Given the description of an element on the screen output the (x, y) to click on. 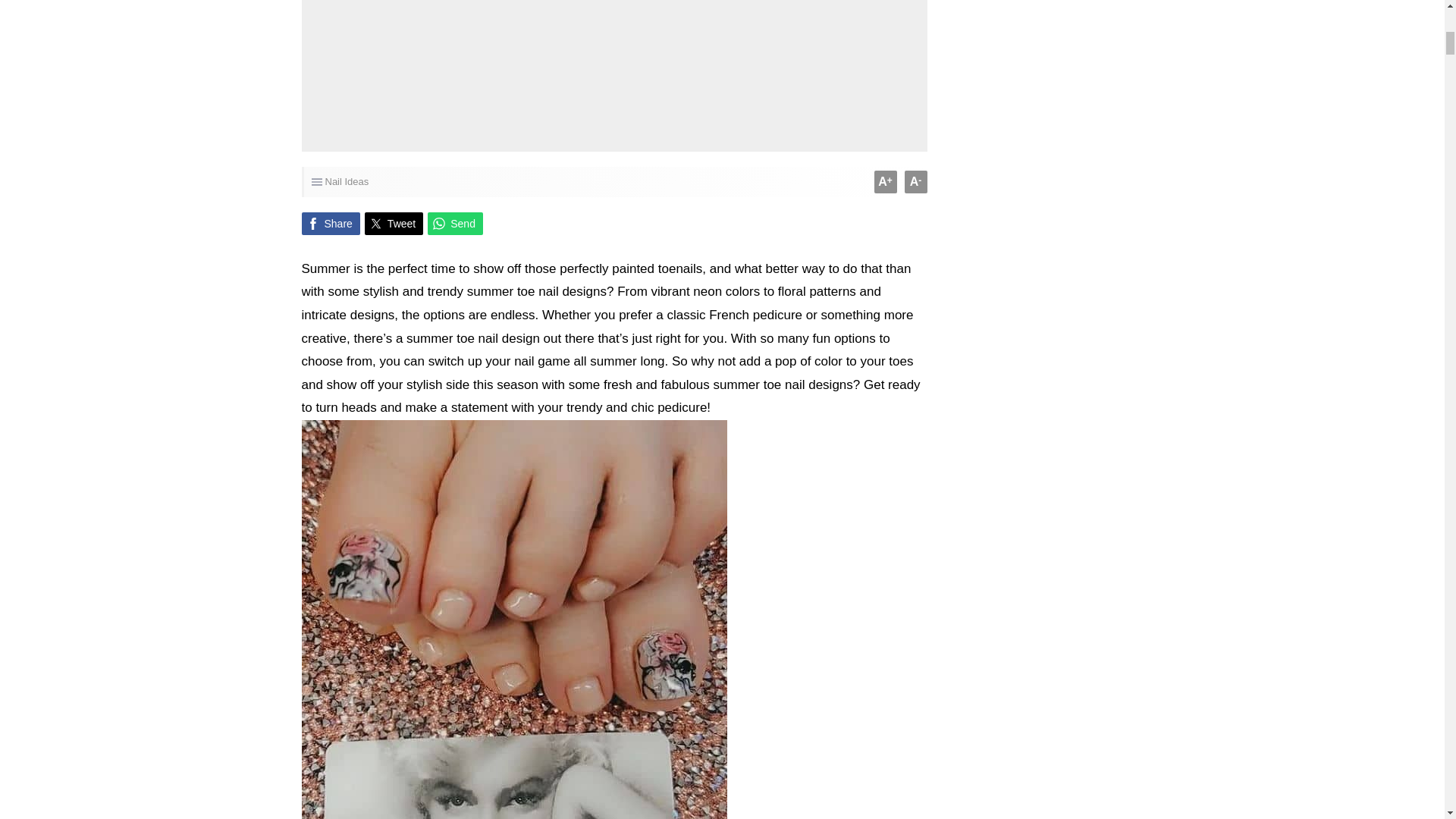
Share on Facebook (330, 223)
Nail Ideas (346, 181)
Send (455, 223)
Advertisement (613, 60)
Share on Whatsapp (455, 223)
Tweet (394, 223)
Share (330, 223)
Share on Twitter (394, 223)
